Given the description of an element on the screen output the (x, y) to click on. 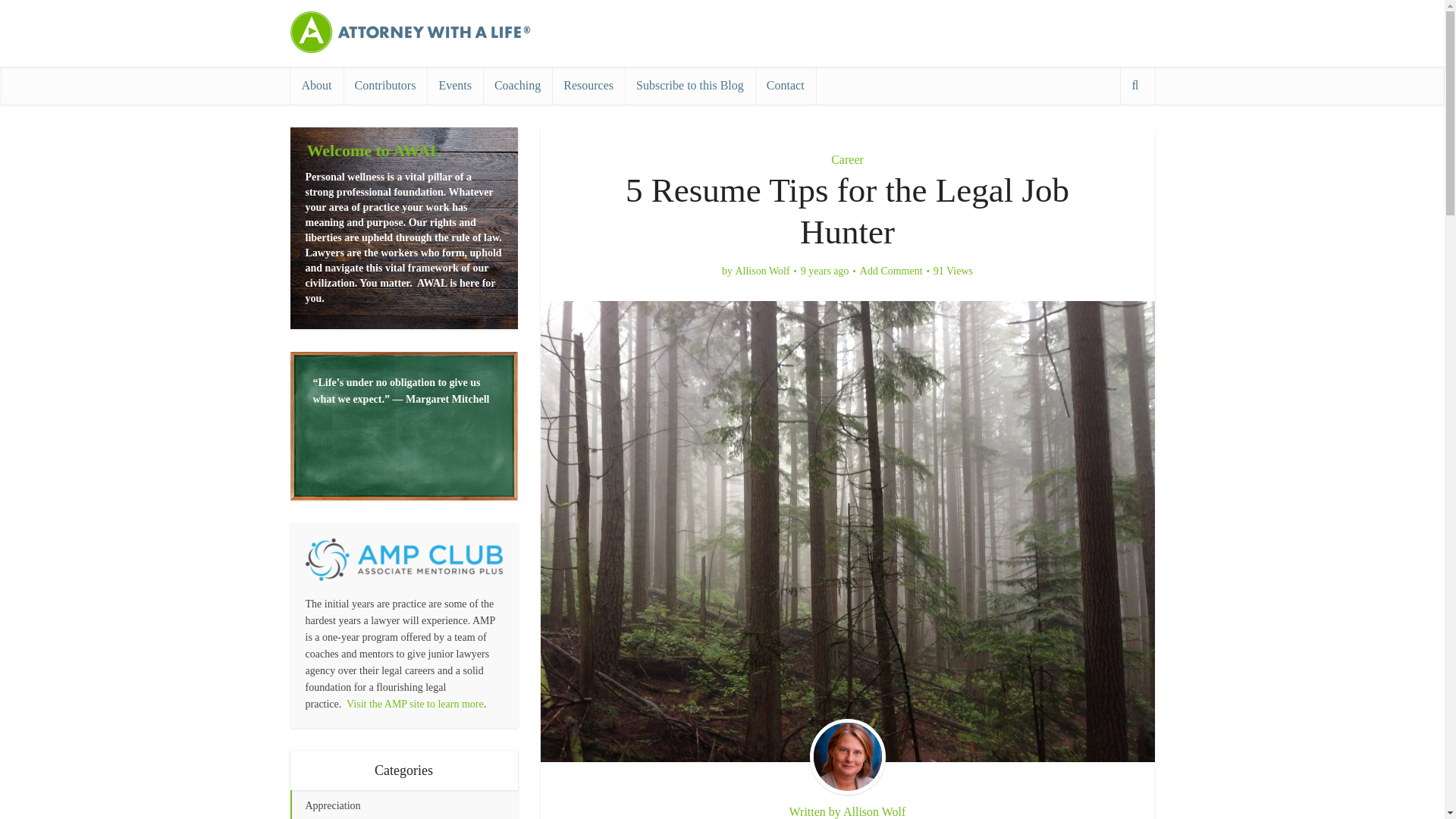
Resources (587, 85)
Subscribe to this Blog (689, 85)
Attorney With a Life (410, 32)
Events (454, 85)
Contributors (384, 85)
Visit the AMP site to learn more (414, 704)
About (315, 85)
Contact (785, 85)
Coaching (517, 85)
Appreciation (402, 804)
